Given the description of an element on the screen output the (x, y) to click on. 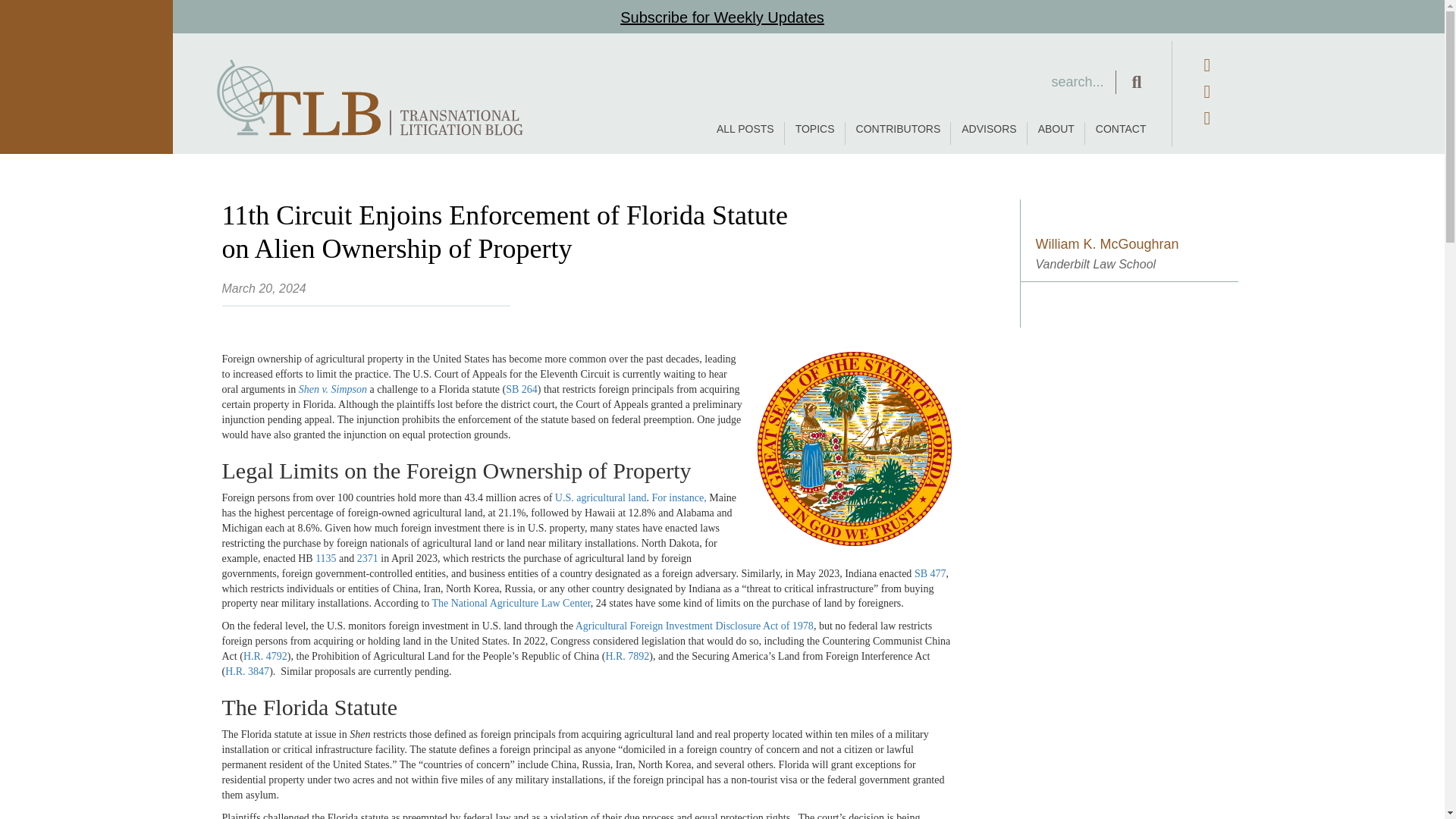
TOPICS (814, 133)
CONTACT (1120, 133)
ALL POSTS (745, 133)
tlb-logo-h.svg (370, 97)
ADVISORS (988, 133)
ABOUT (1055, 133)
Subscribe for Weekly Updates (722, 17)
CONTRIBUTORS (898, 133)
